Given the description of an element on the screen output the (x, y) to click on. 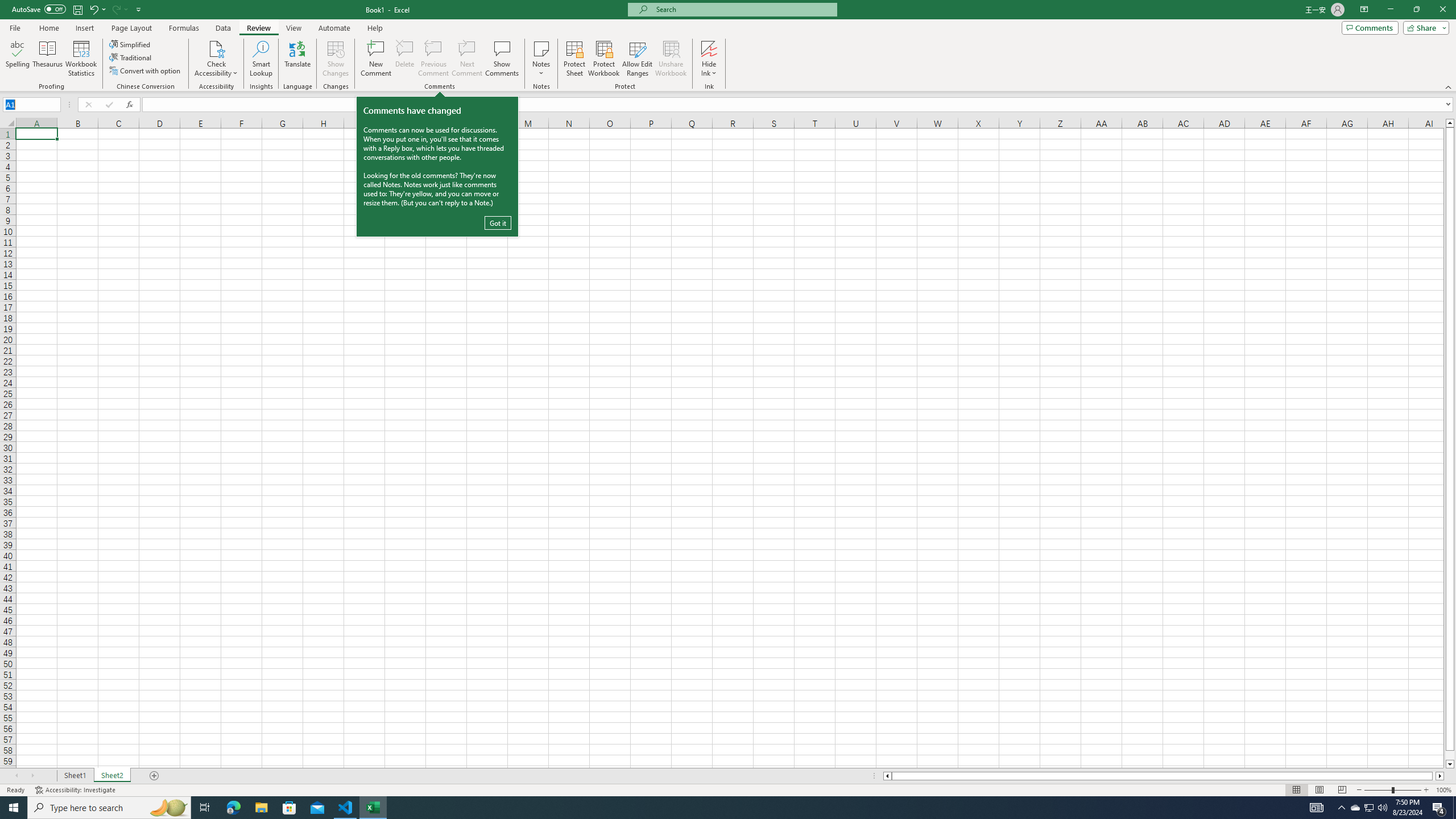
Notes (541, 58)
